Given the description of an element on the screen output the (x, y) to click on. 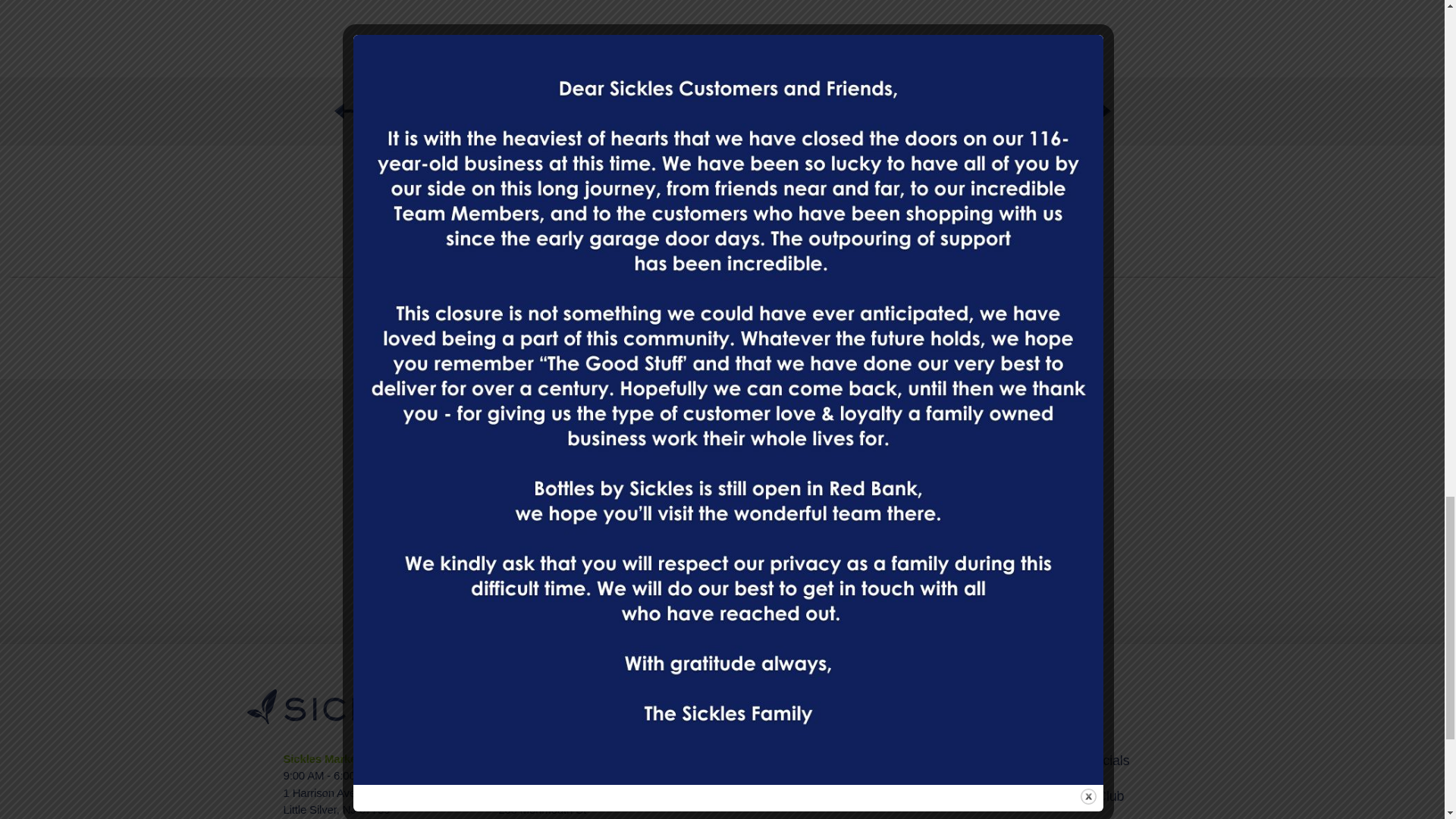
Apply (941, 554)
